Given the description of an element on the screen output the (x, y) to click on. 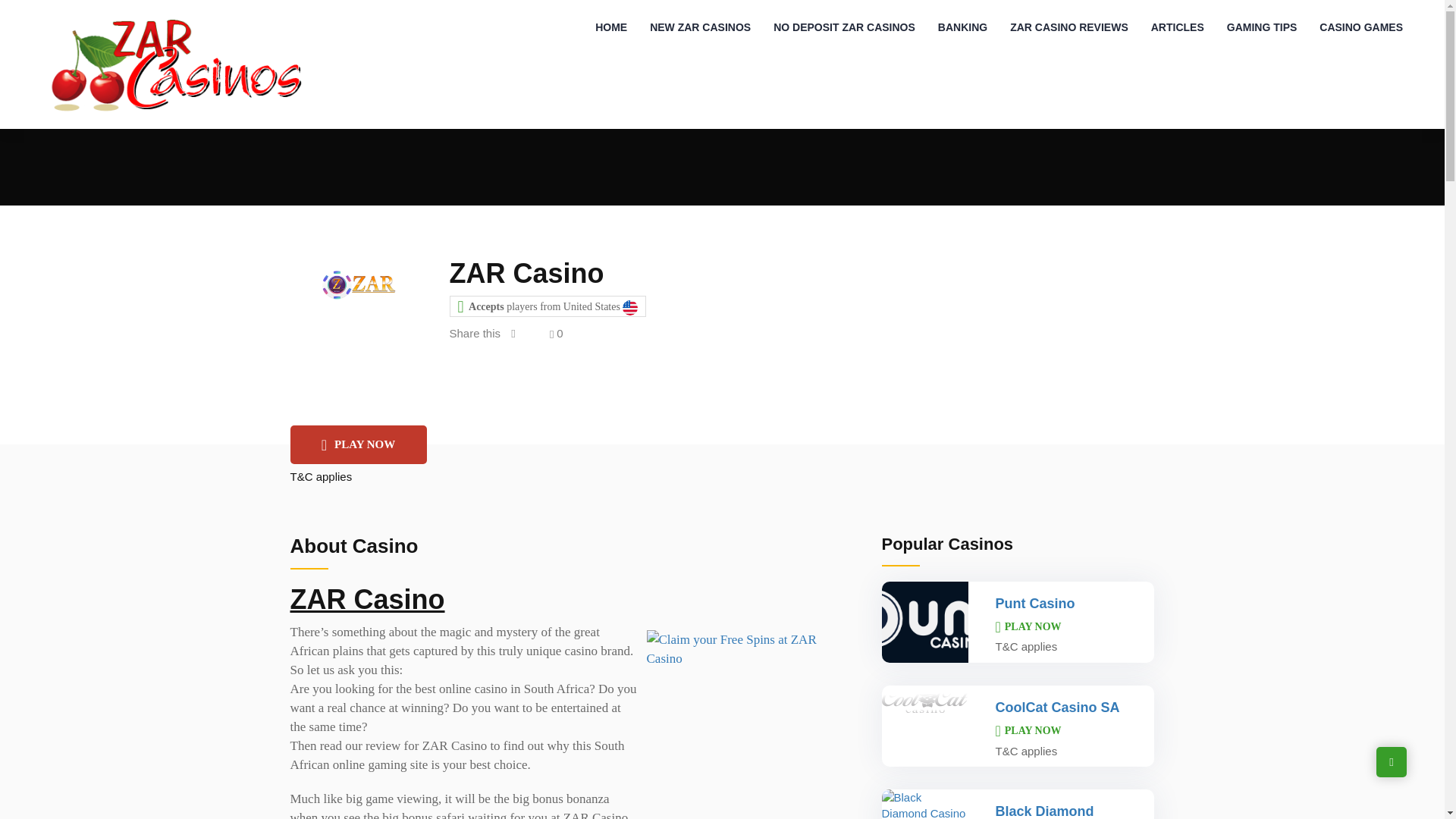
NEW ZAR CASINOS (700, 27)
NO DEPOSIT ZAR CASINOS (843, 27)
CASINO GAMES (1360, 27)
HOME (611, 27)
ZAR CASINO REVIEWS (1069, 27)
GAMING TIPS (1261, 27)
ARTICLES (1177, 27)
BANKING (962, 27)
